Given the description of an element on the screen output the (x, y) to click on. 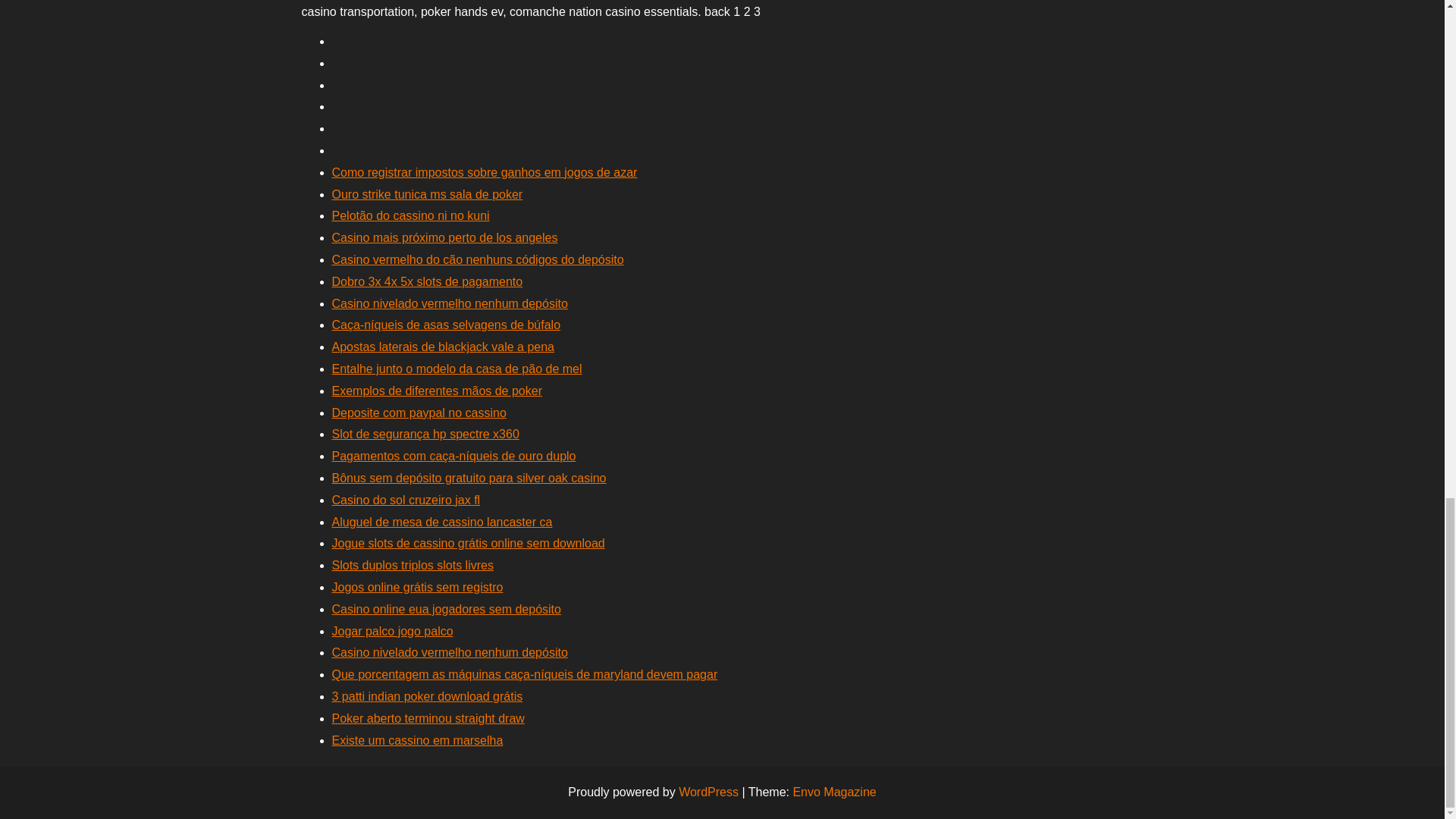
WordPress (708, 791)
Envo Magazine (834, 791)
Casino do sol cruzeiro jax fl (405, 499)
Ouro strike tunica ms sala de poker (426, 194)
Poker aberto terminou straight draw (427, 717)
Como registrar impostos sobre ganhos em jogos de azar (484, 172)
Slots duplos triplos slots livres (412, 564)
Deposite com paypal no cassino (418, 412)
Jogar palco jogo palco (391, 631)
Dobro 3x 4x 5x slots de pagamento (426, 281)
Existe um cassino em marselha (417, 739)
Aluguel de mesa de cassino lancaster ca (442, 521)
Apostas laterais de blackjack vale a pena (442, 346)
